Given the description of an element on the screen output the (x, y) to click on. 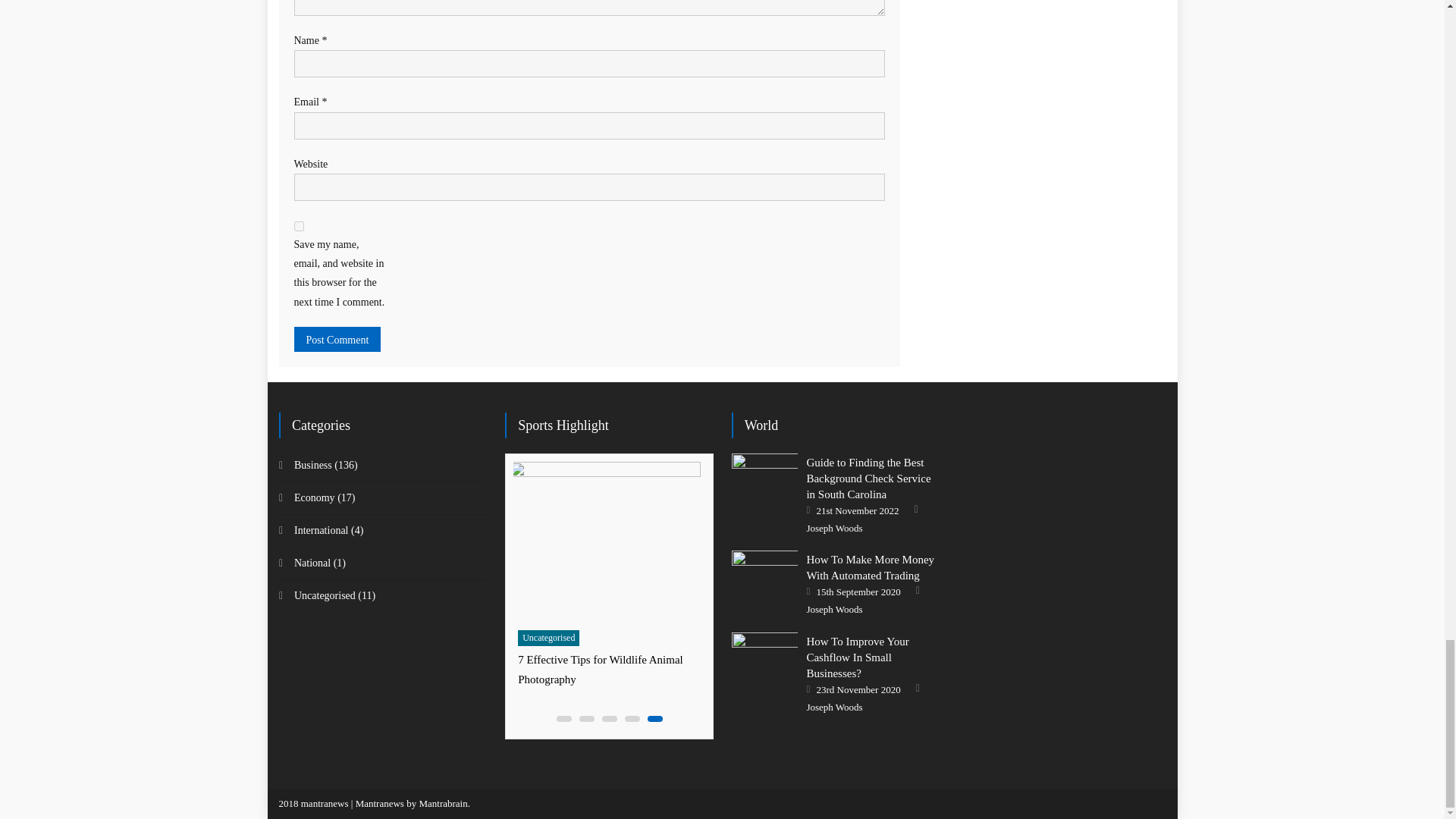
Post Comment (337, 339)
yes (299, 225)
